Given the description of an element on the screen output the (x, y) to click on. 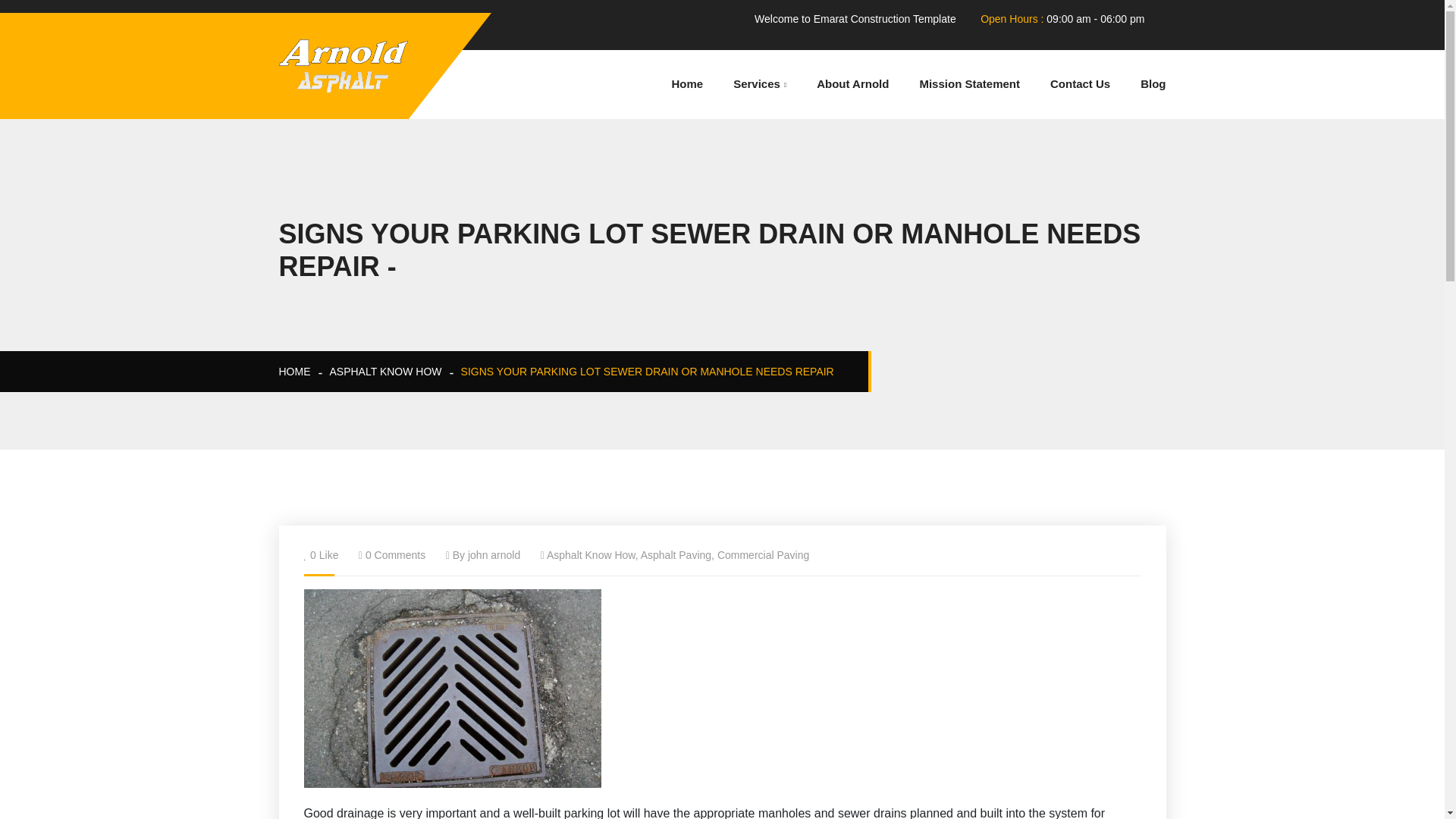
0 Like (323, 554)
Commercial Paving (763, 554)
About Arnold (852, 83)
ASPHALT KNOW HOW (385, 371)
HOME (295, 371)
Mission Statement (969, 83)
Asphalt Paving (675, 554)
Asphalt Know How (590, 554)
